Given the description of an element on the screen output the (x, y) to click on. 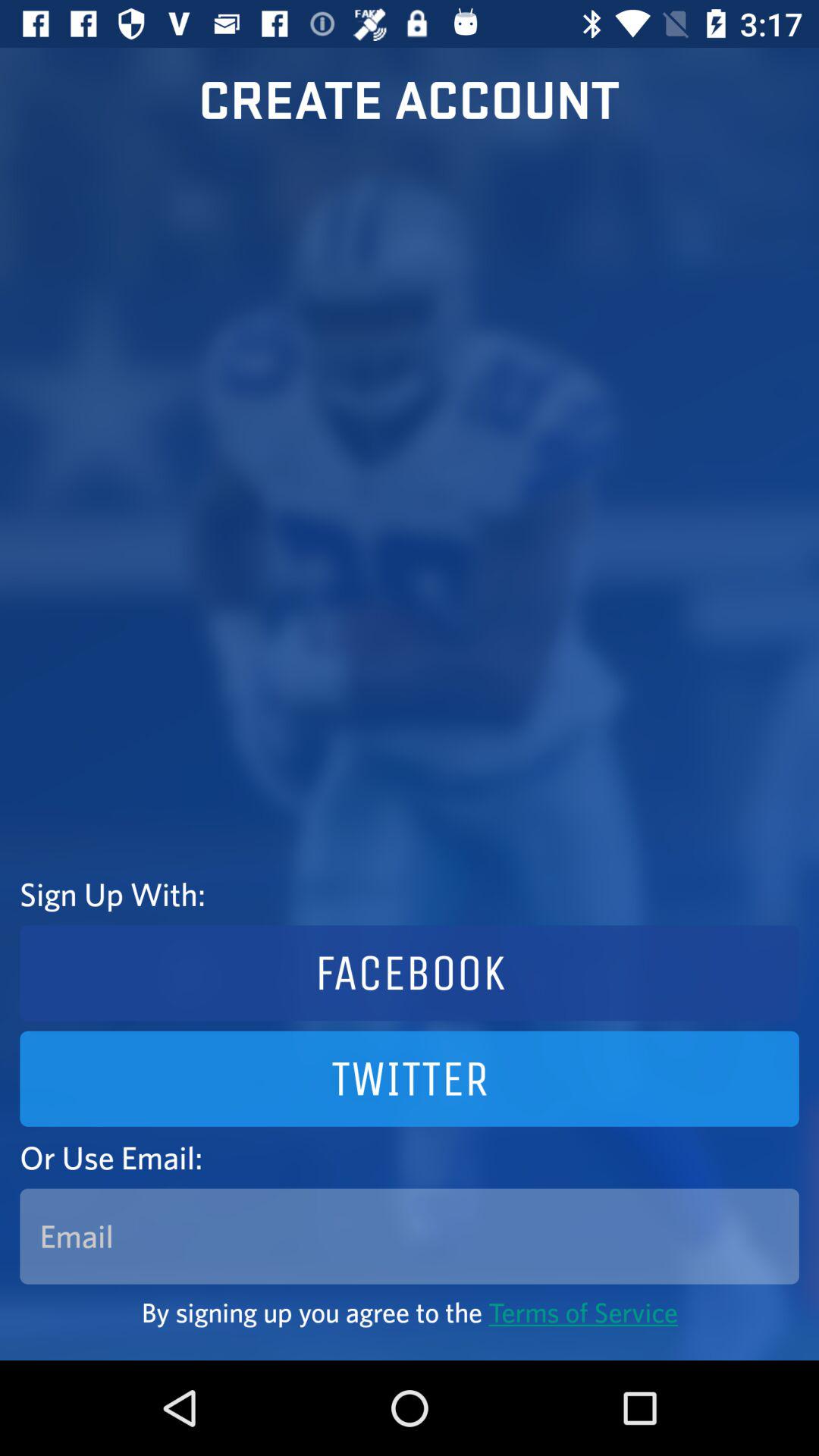
scroll to facebook icon (409, 972)
